Given the description of an element on the screen output the (x, y) to click on. 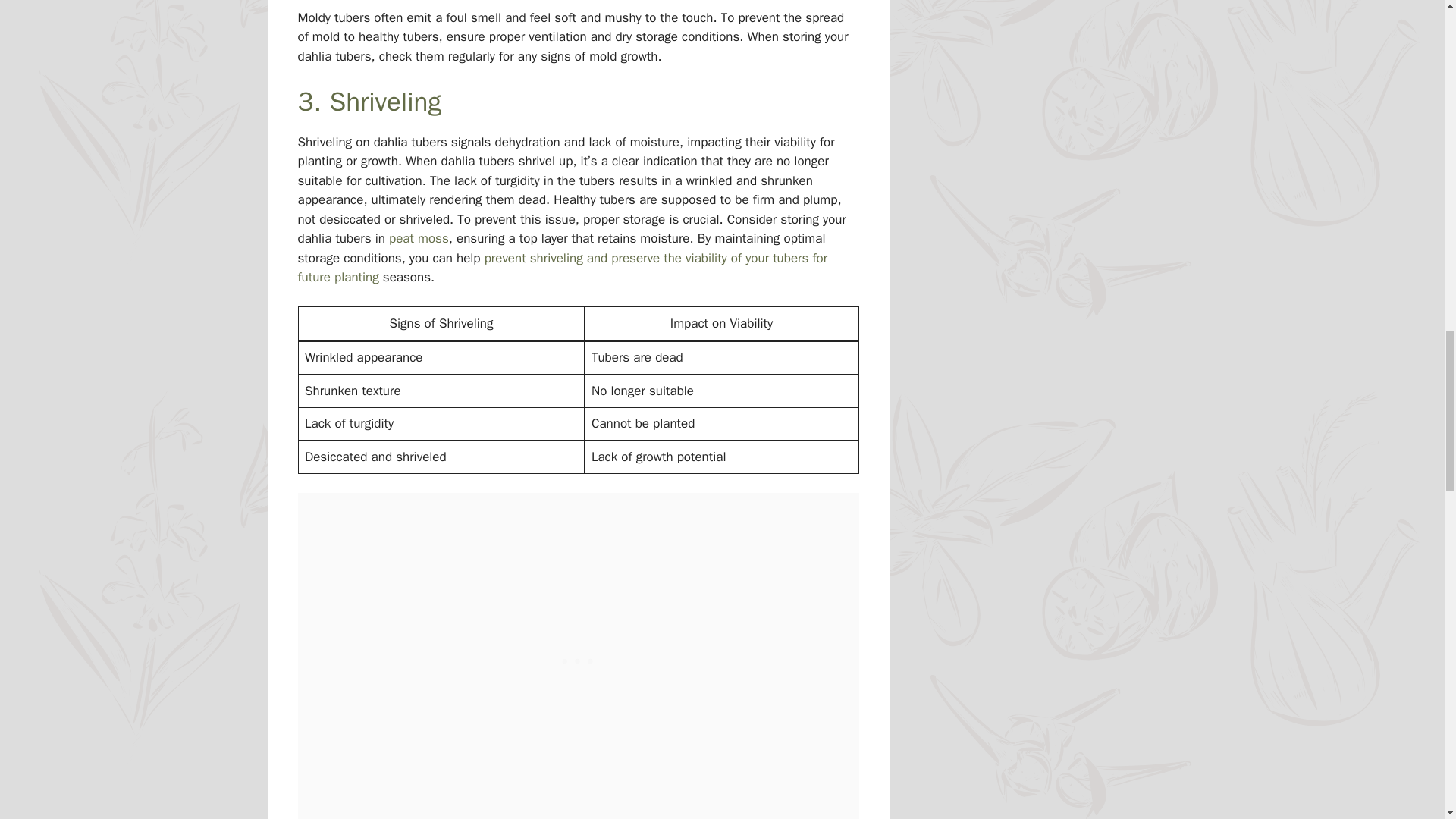
peat moss (418, 238)
